Given the description of an element on the screen output the (x, y) to click on. 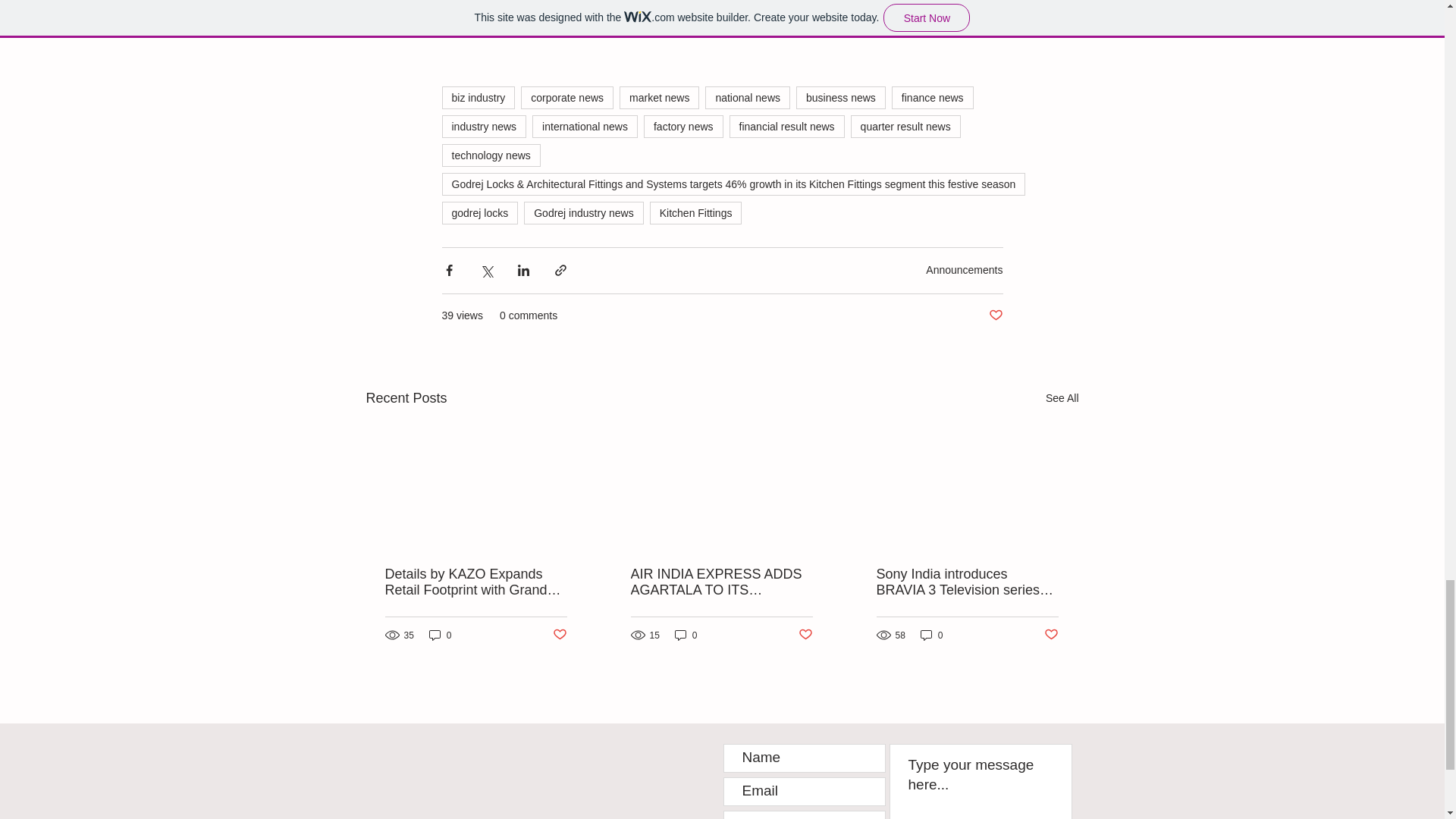
business news (840, 97)
international news (584, 126)
quarter result news (905, 126)
Announcements (964, 269)
corporate news (566, 97)
industry news (483, 126)
See All (1061, 397)
technology news (490, 155)
factory news (683, 126)
market news (659, 97)
